Given the description of an element on the screen output the (x, y) to click on. 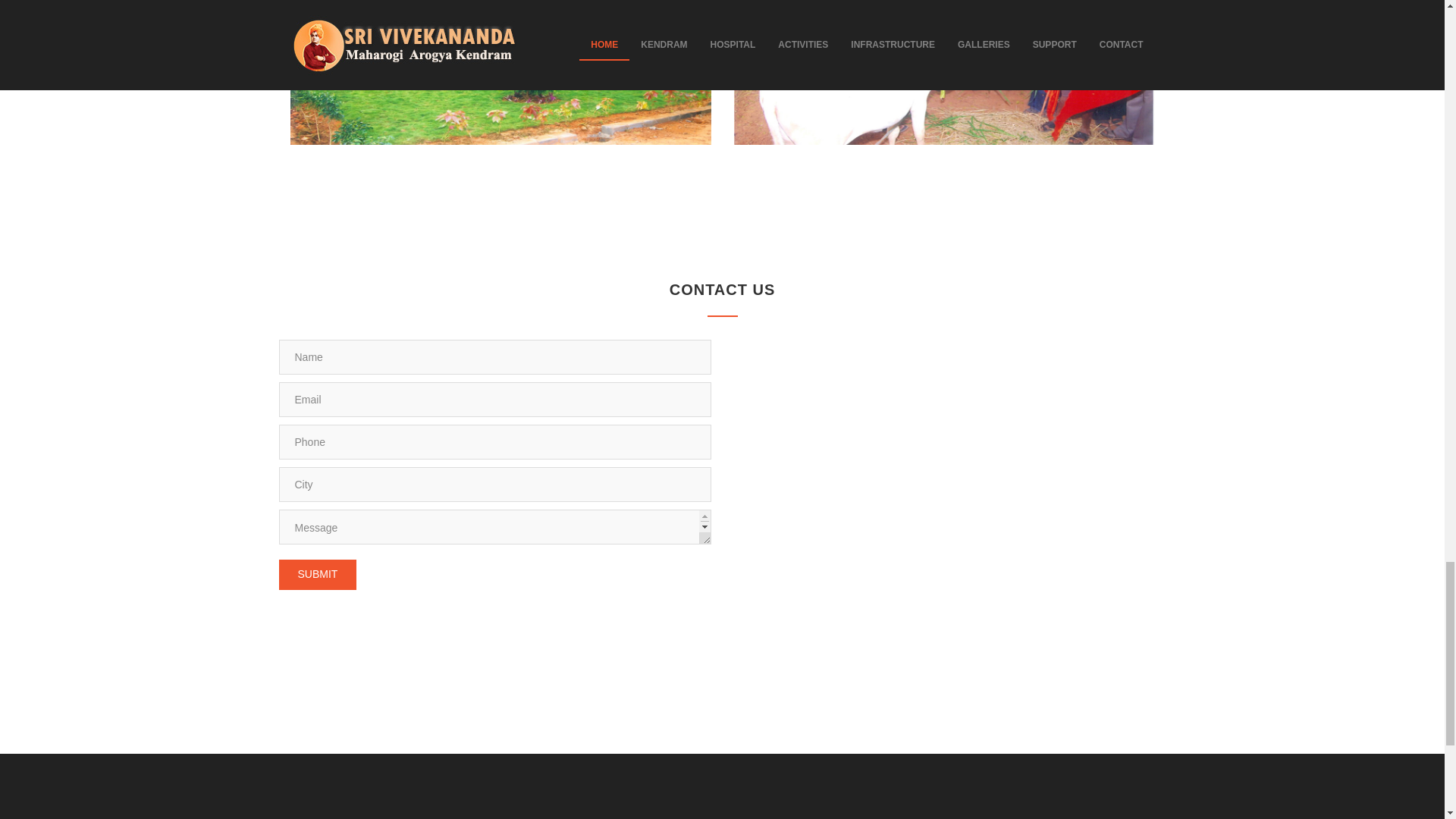
SUBMIT (317, 574)
